Given the description of an element on the screen output the (x, y) to click on. 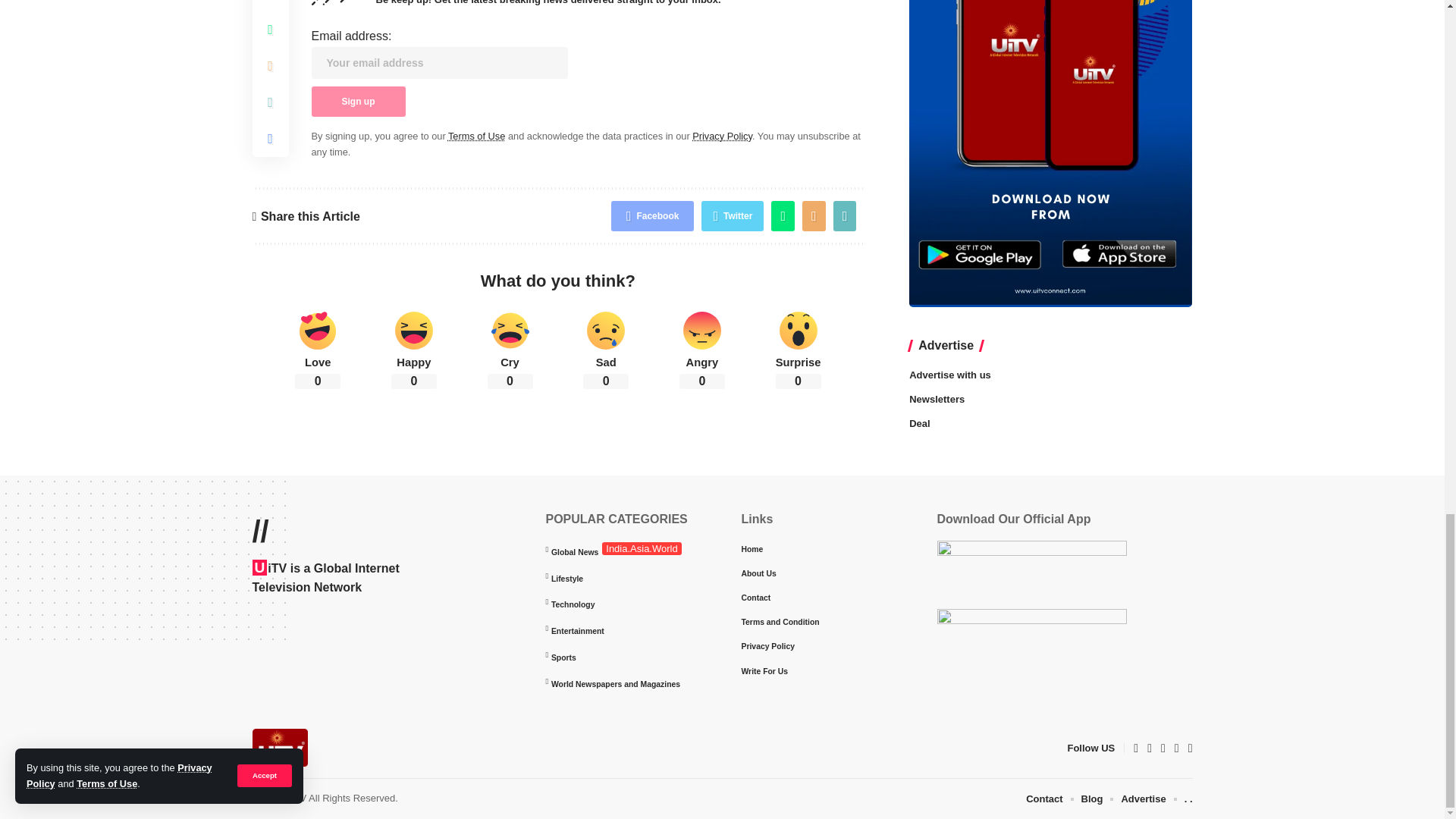
Sign up (357, 101)
